Given the description of an element on the screen output the (x, y) to click on. 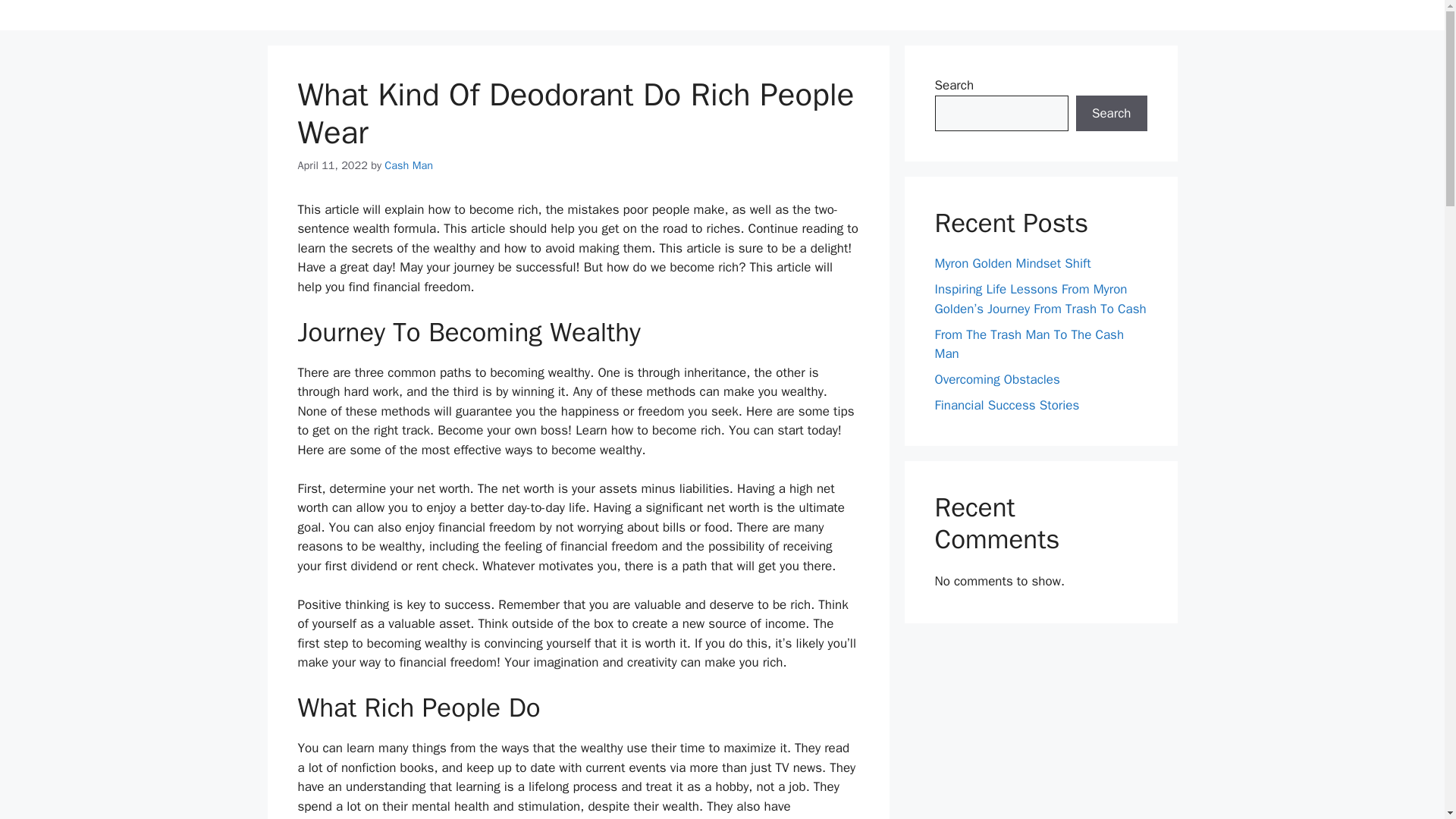
Search (1111, 113)
Financial Success Stories (1006, 405)
Cash Man (408, 164)
Overcoming Obstacles (996, 379)
Myron Golden Mindset Shift (1012, 263)
From The Trash Man To The Cash Man (1029, 343)
View all posts by Cash Man (408, 164)
